Given the description of an element on the screen output the (x, y) to click on. 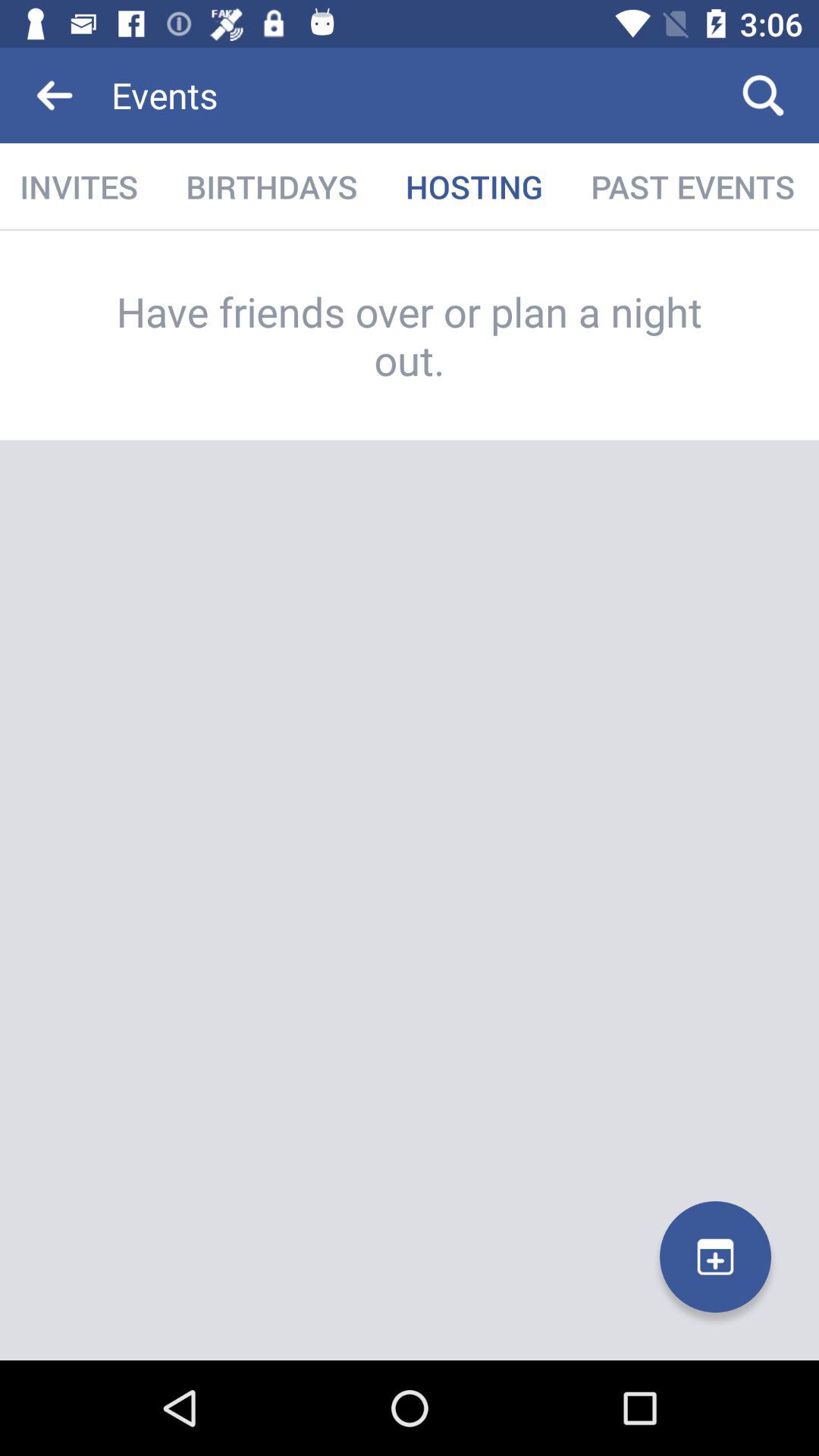
turn off the icon above the past events (763, 95)
